Given the description of an element on the screen output the (x, y) to click on. 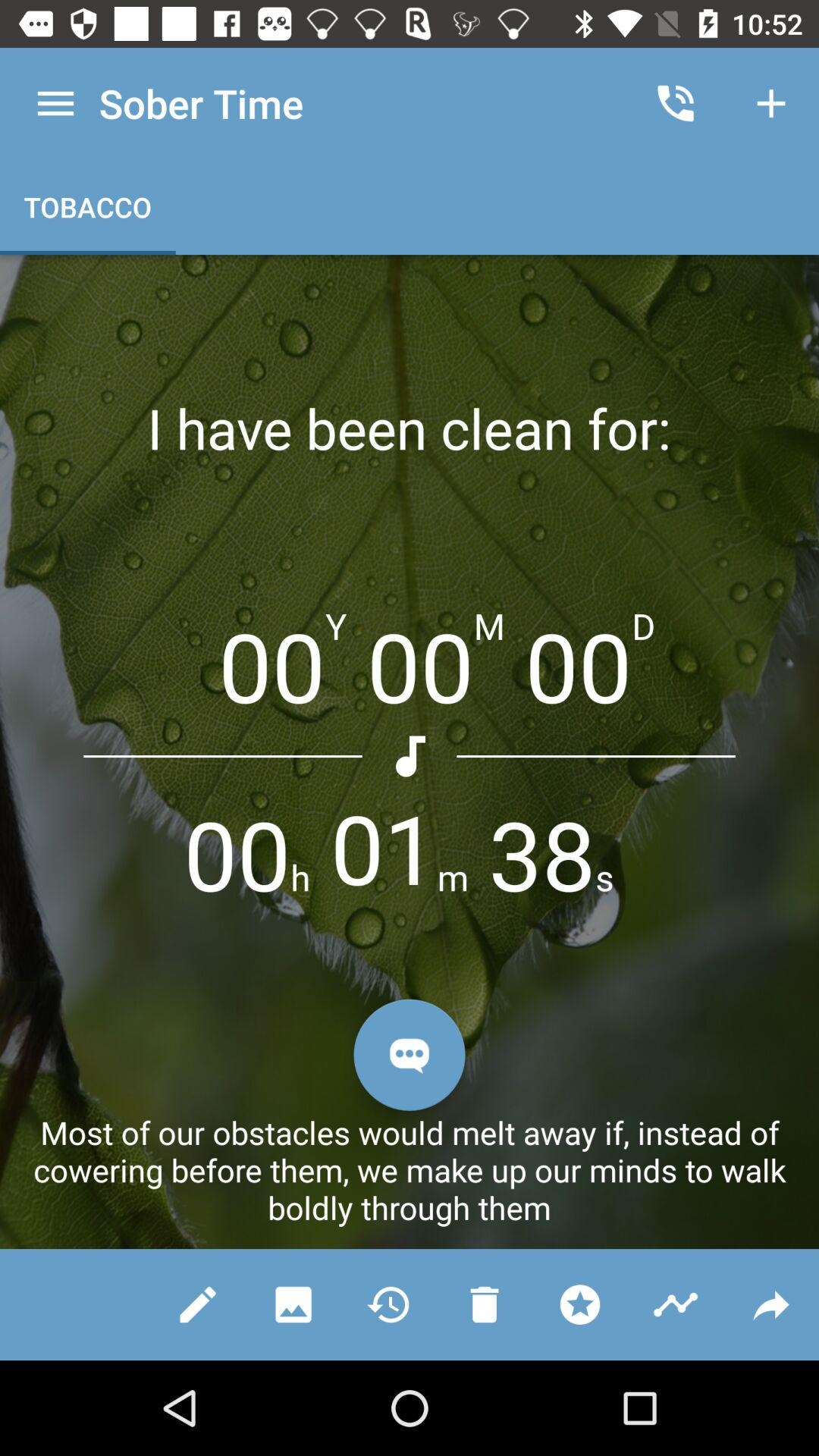
ch at (409, 1054)
